Given the description of an element on the screen output the (x, y) to click on. 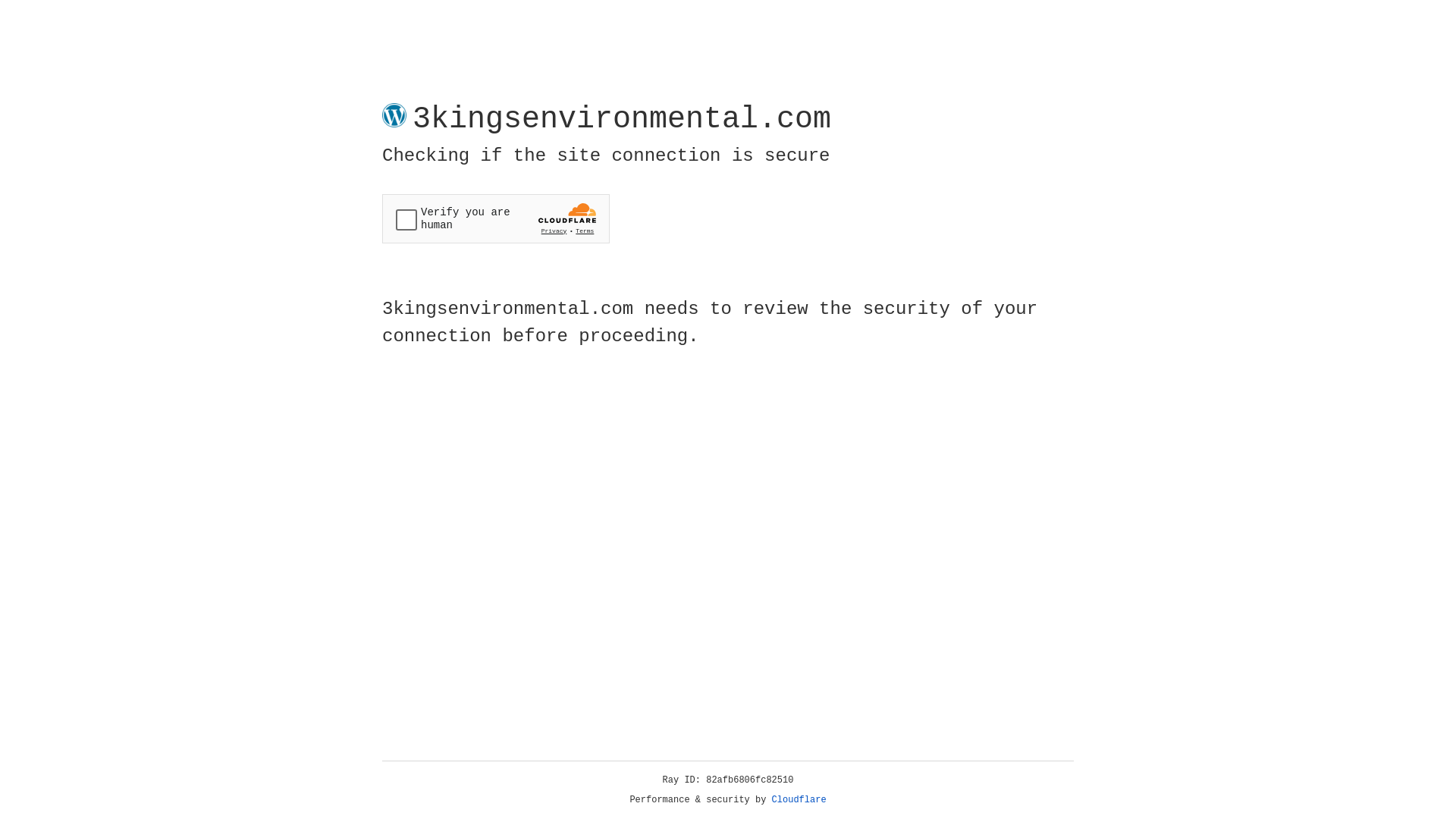
Widget containing a Cloudflare security challenge Element type: hover (495, 218)
Cloudflare Element type: text (798, 799)
